Given the description of an element on the screen output the (x, y) to click on. 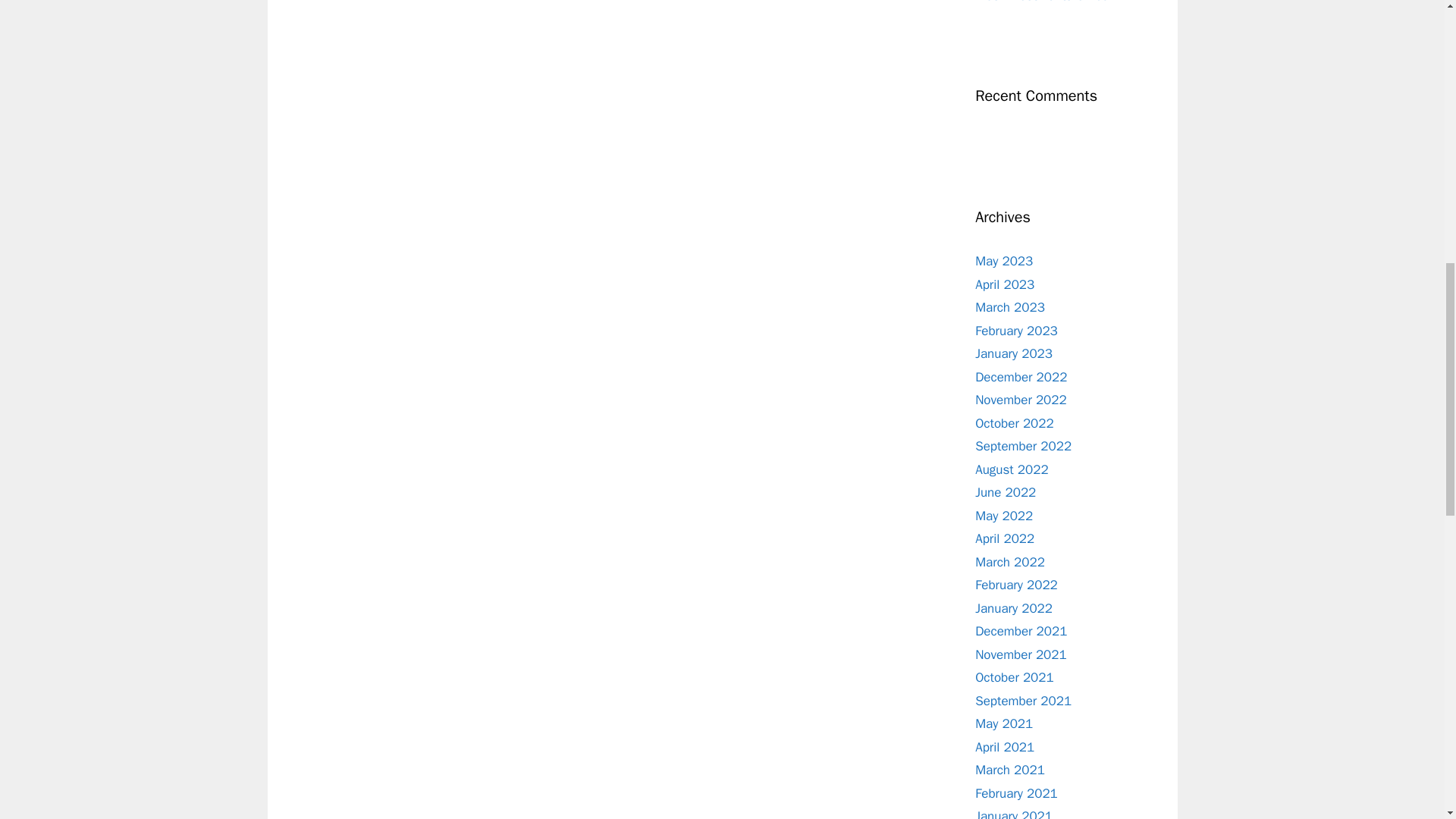
April 2023 (1004, 284)
Wes Investments Office (1041, 2)
May 2023 (1003, 261)
